Given the description of an element on the screen output the (x, y) to click on. 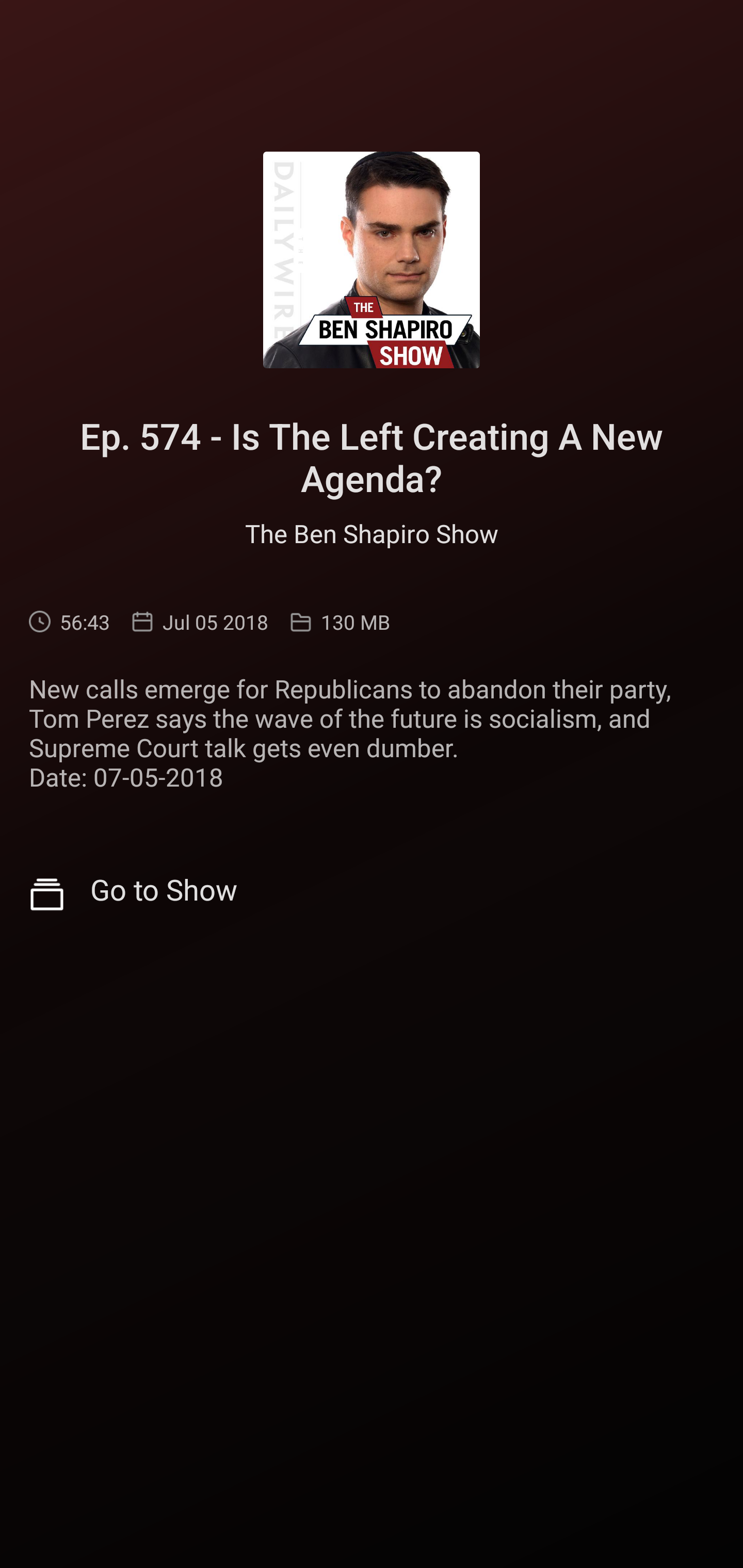
Go to Show (371, 894)
